Given the description of an element on the screen output the (x, y) to click on. 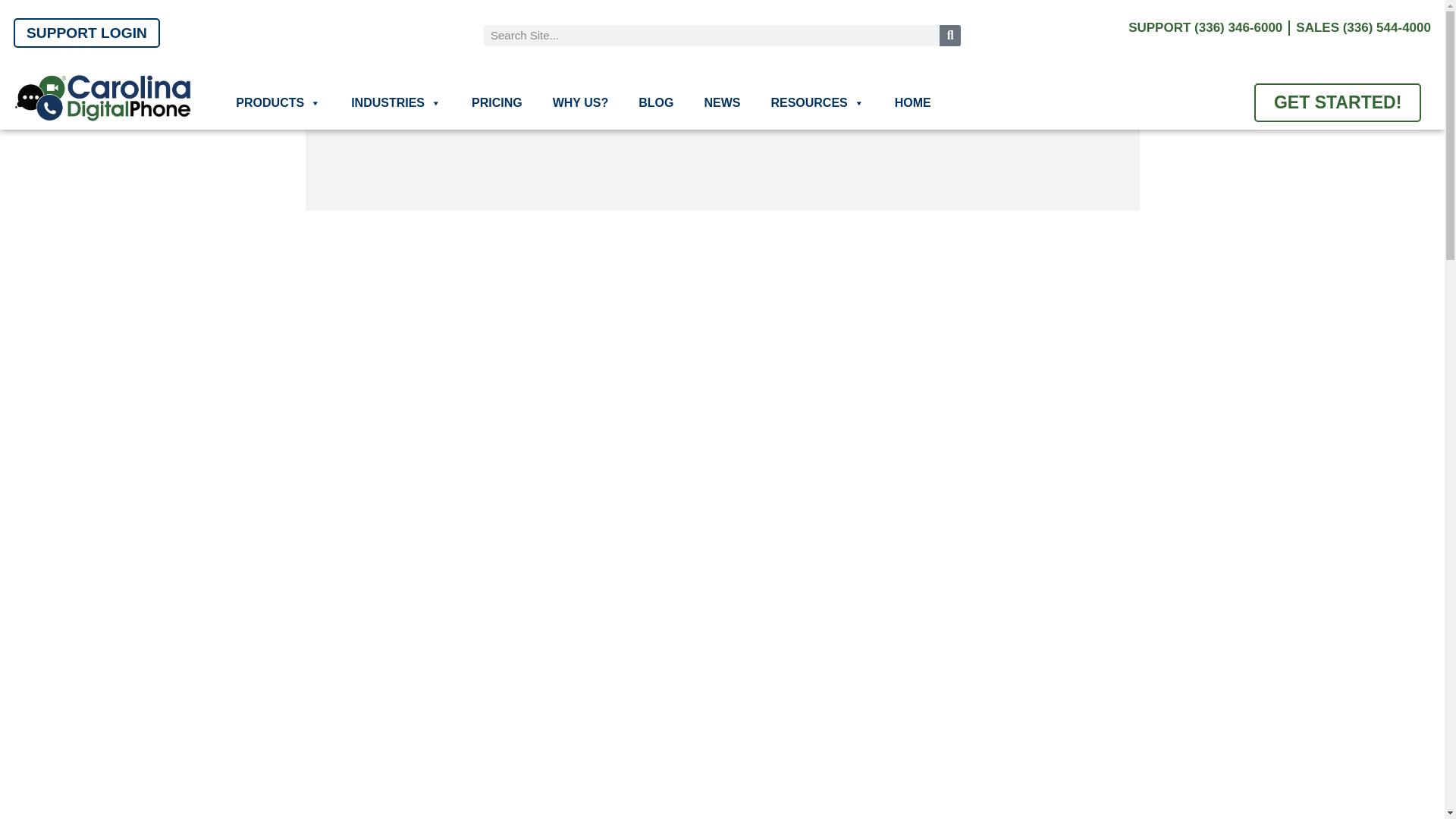
SUPPORT LOGIN (86, 32)
RESOURCES (816, 103)
PRODUCTS (278, 103)
INDUSTRIES (395, 103)
NEWS (721, 103)
PRICING (496, 103)
BLOG (655, 103)
WHY US? (579, 103)
